Given the description of an element on the screen output the (x, y) to click on. 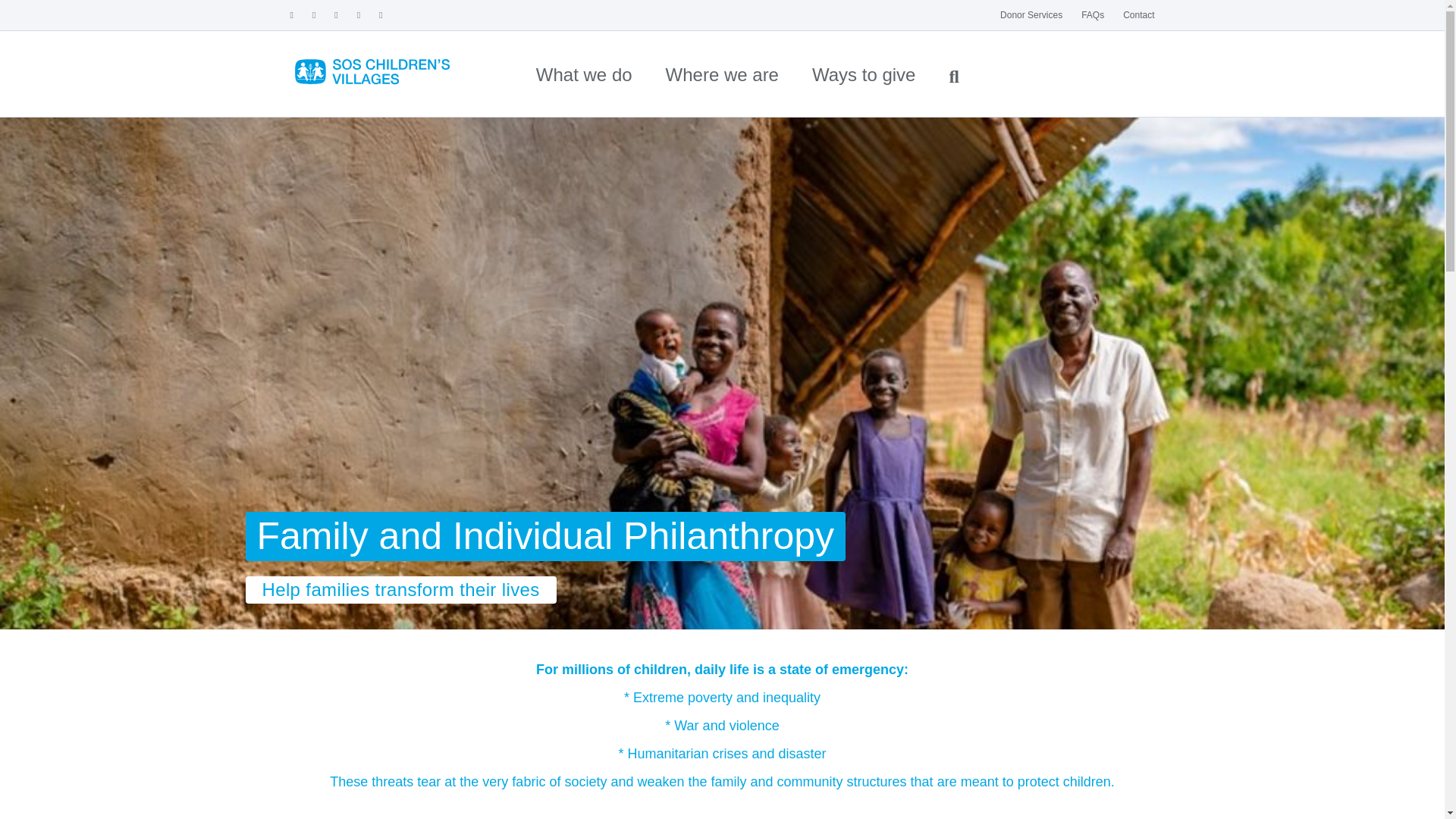
What we do (583, 74)
Where we are (721, 74)
What we do (583, 74)
Ways to give (863, 74)
Contact (1138, 15)
Donor Services (1031, 15)
